Given the description of an element on the screen output the (x, y) to click on. 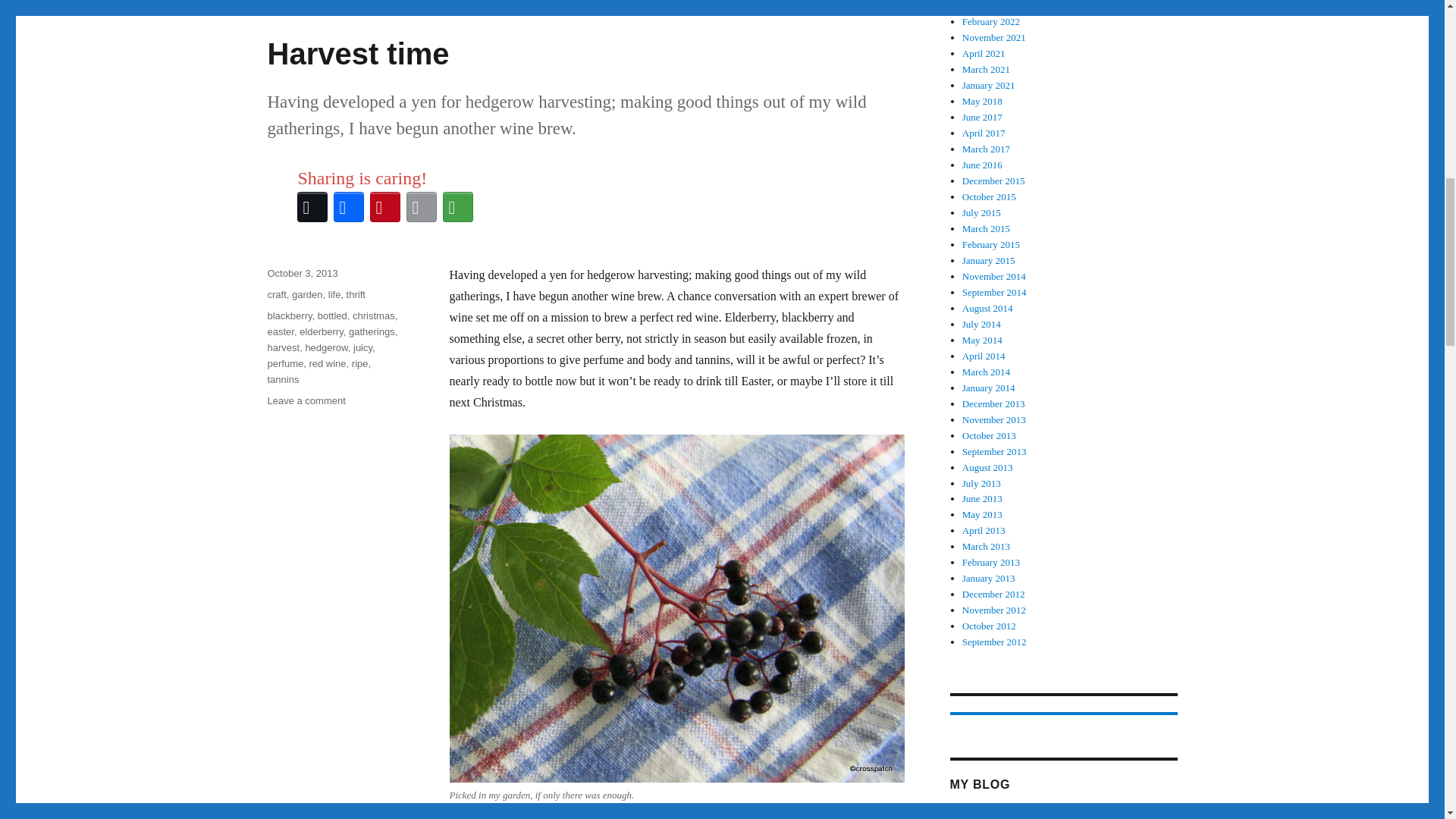
Facebook (348, 207)
craft (275, 294)
elderberry (321, 331)
garden (306, 294)
October 3, 2013 (301, 273)
gatherings (371, 331)
hedgerow (325, 347)
juicy (362, 347)
bottled (332, 315)
thrift (355, 294)
